Given the description of an element on the screen output the (x, y) to click on. 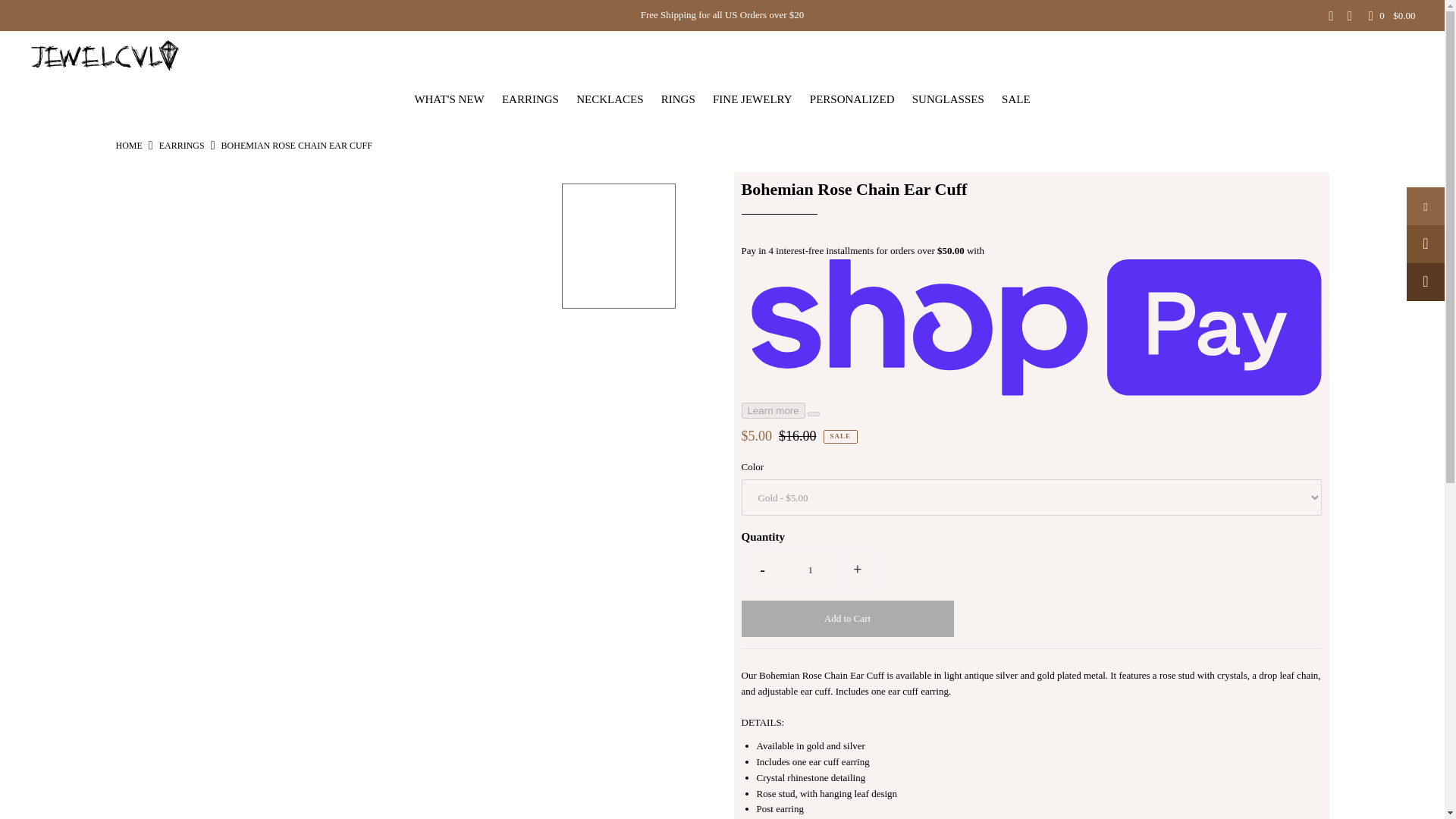
PERSONALIZED (852, 99)
SUNGLASSES (947, 99)
Add to Cart (847, 618)
Home (128, 145)
- (762, 569)
EARRINGS (181, 145)
RINGS (678, 99)
NECKLACES (609, 99)
SALE (1016, 99)
Add to Cart (847, 618)
